Given the description of an element on the screen output the (x, y) to click on. 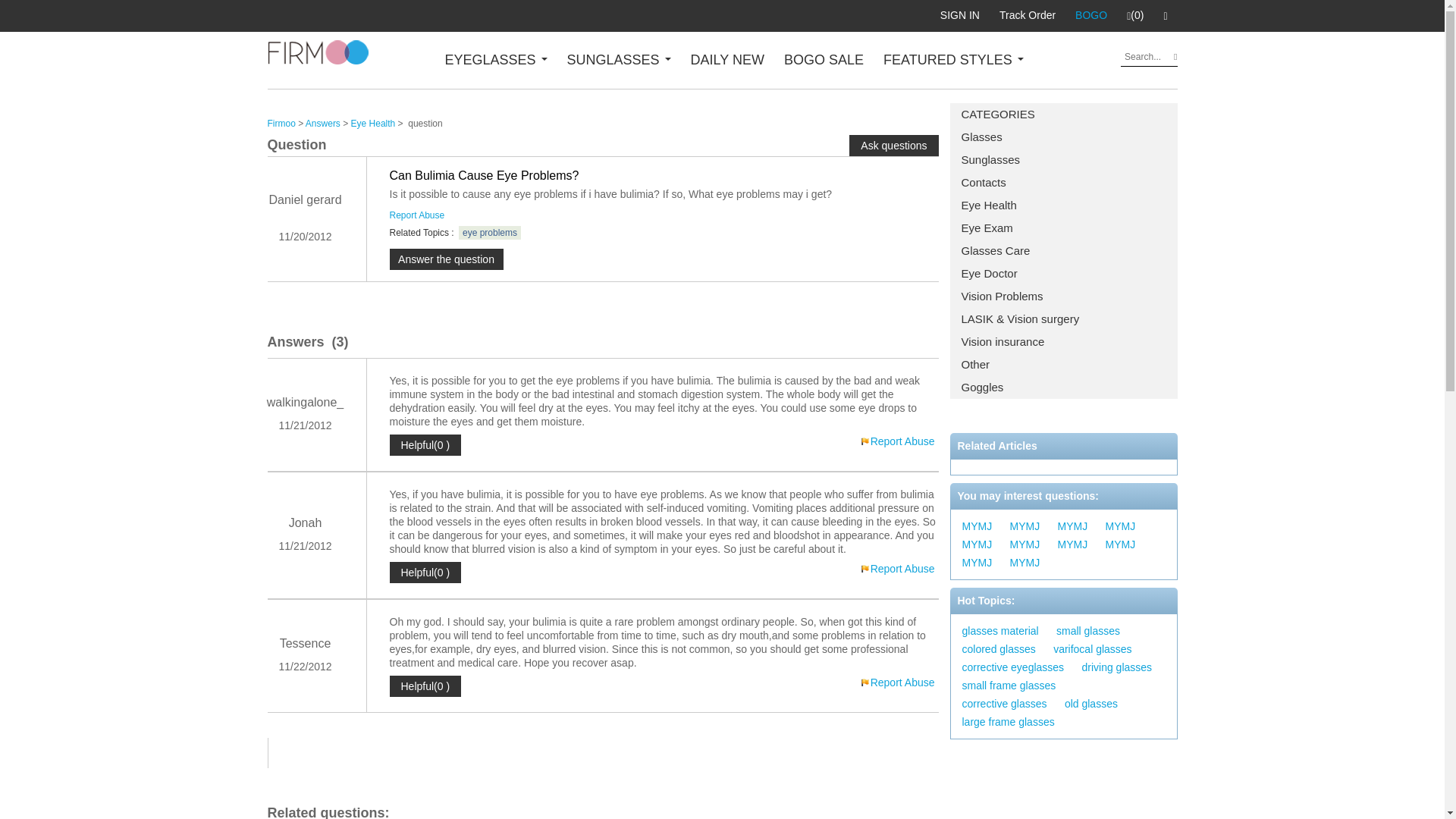
BOGO (1090, 15)
Track Order (1027, 15)
SIGN IN (960, 15)
EYEGLASSES (495, 59)
